Given the description of an element on the screen output the (x, y) to click on. 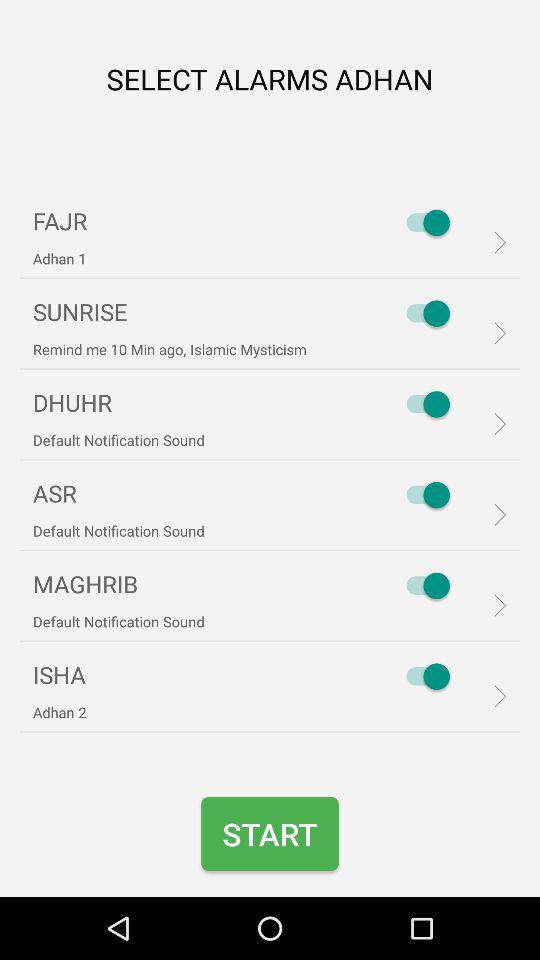
press the item next to the adhan 2 icon (423, 676)
